Given the description of an element on the screen output the (x, y) to click on. 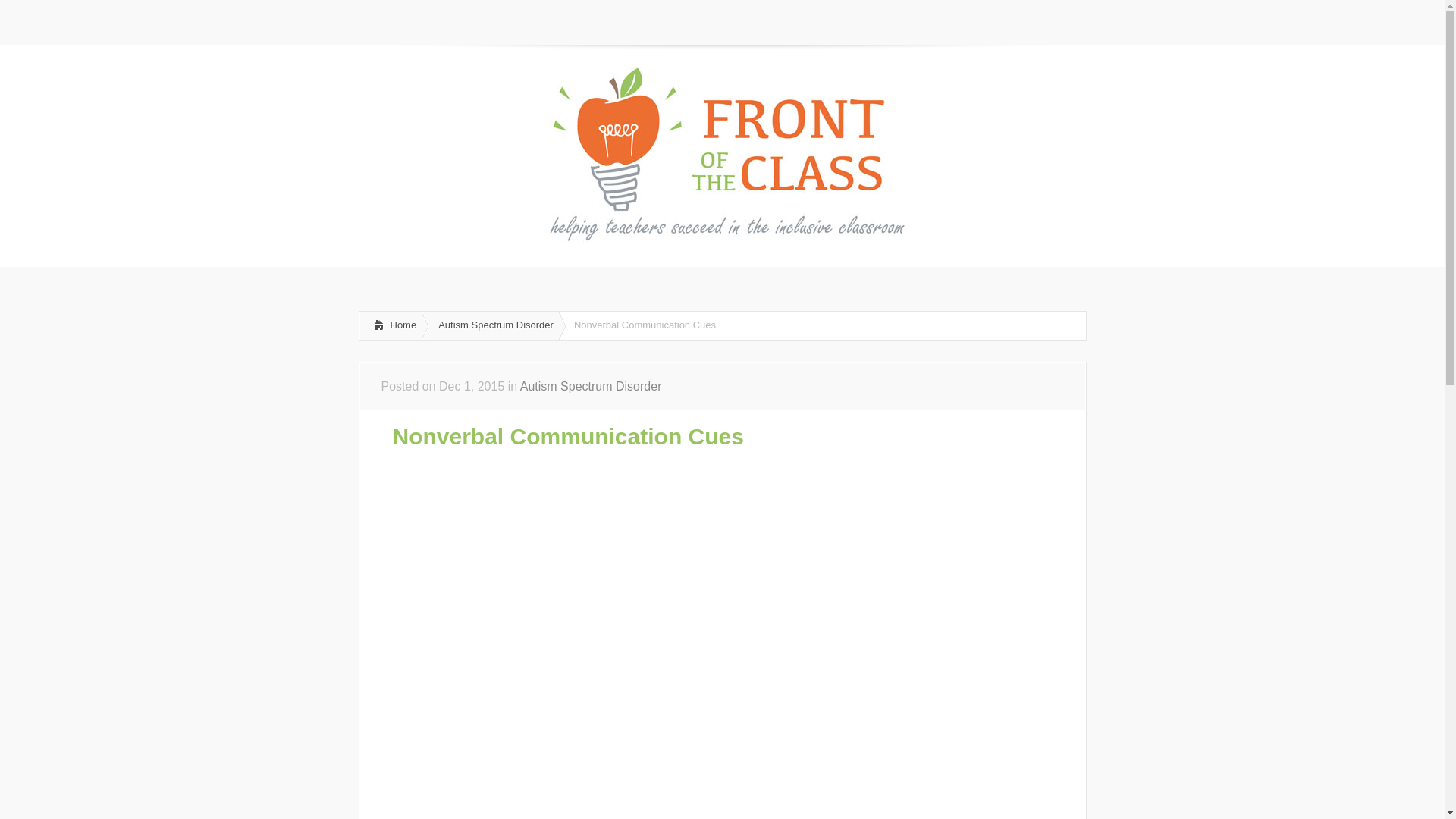
Autism Spectrum Disorder (493, 325)
Autism Spectrum Disorder (590, 386)
Home (389, 325)
